Given the description of an element on the screen output the (x, y) to click on. 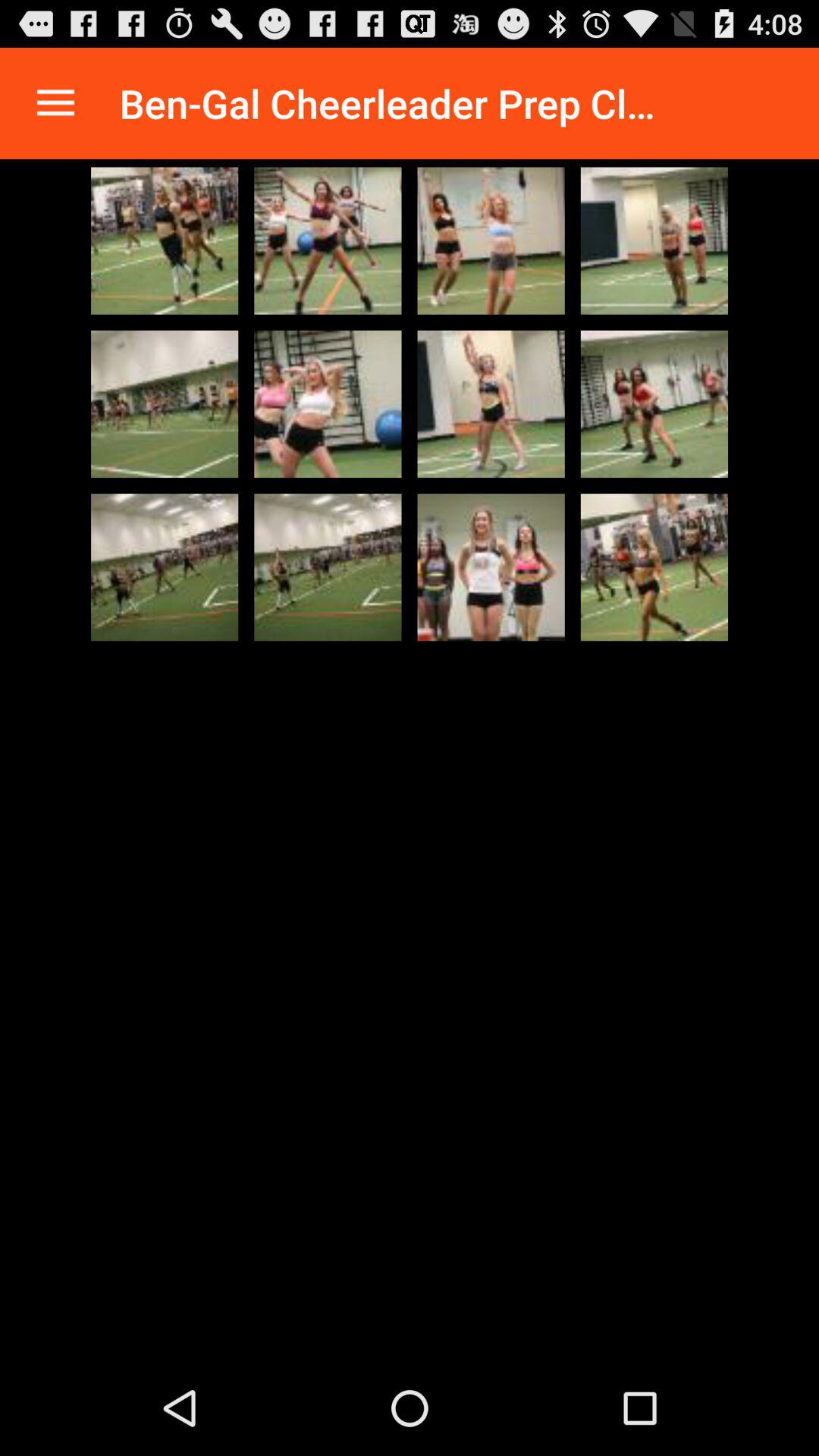
view image (164, 566)
